Given the description of an element on the screen output the (x, y) to click on. 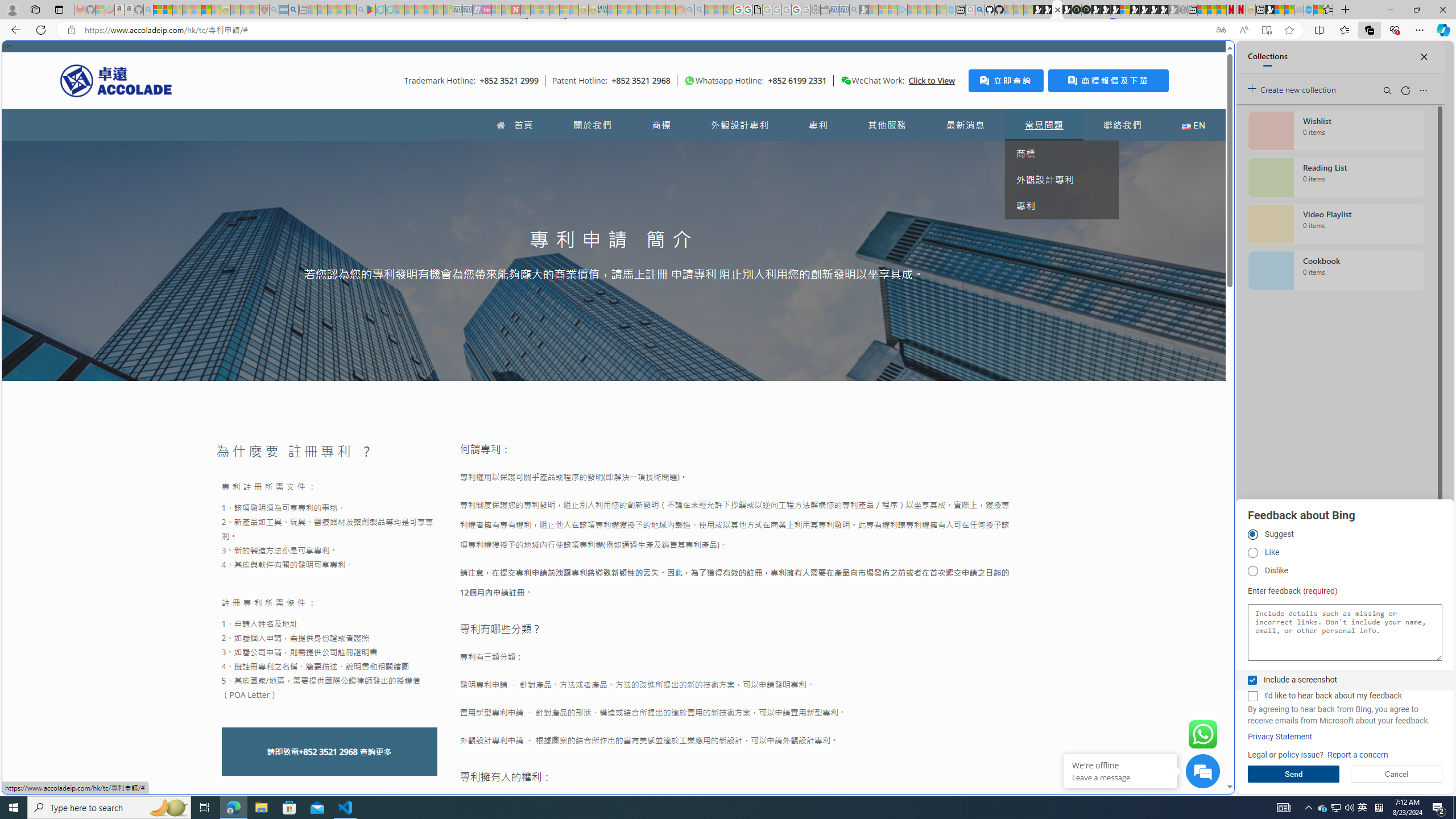
Settings - Sleeping (815, 9)
Services - Maintenance | Sky Blue Bikes - Sky Blue Bikes (1307, 9)
Accolade IP HK Logo (116, 80)
Bing Real Estate - Home sales and rental listings - Sleeping (853, 9)
Enter Immersive Reader (F9) (1266, 29)
